Given the description of an element on the screen output the (x, y) to click on. 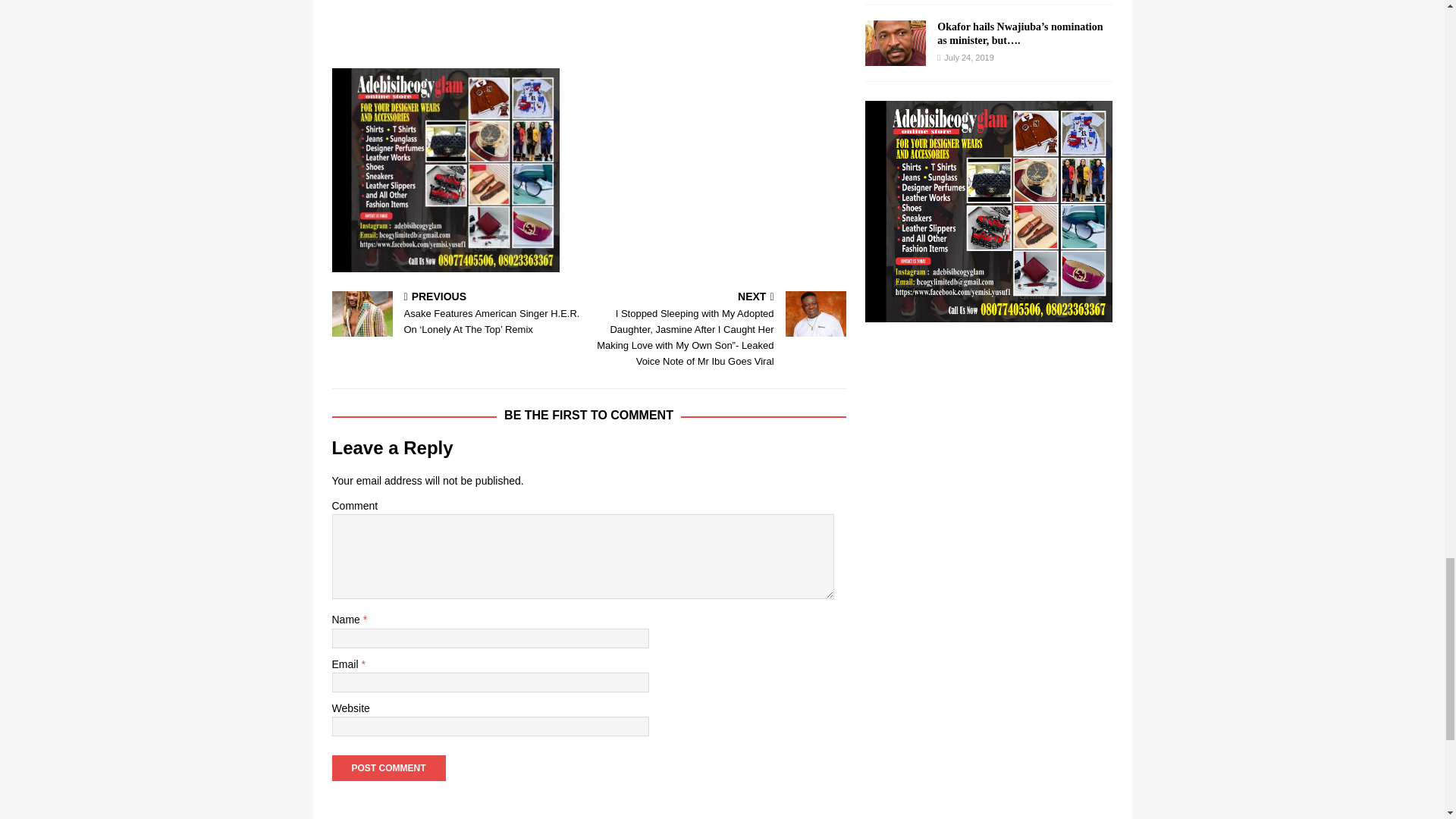
Post Comment (388, 768)
